Given the description of an element on the screen output the (x, y) to click on. 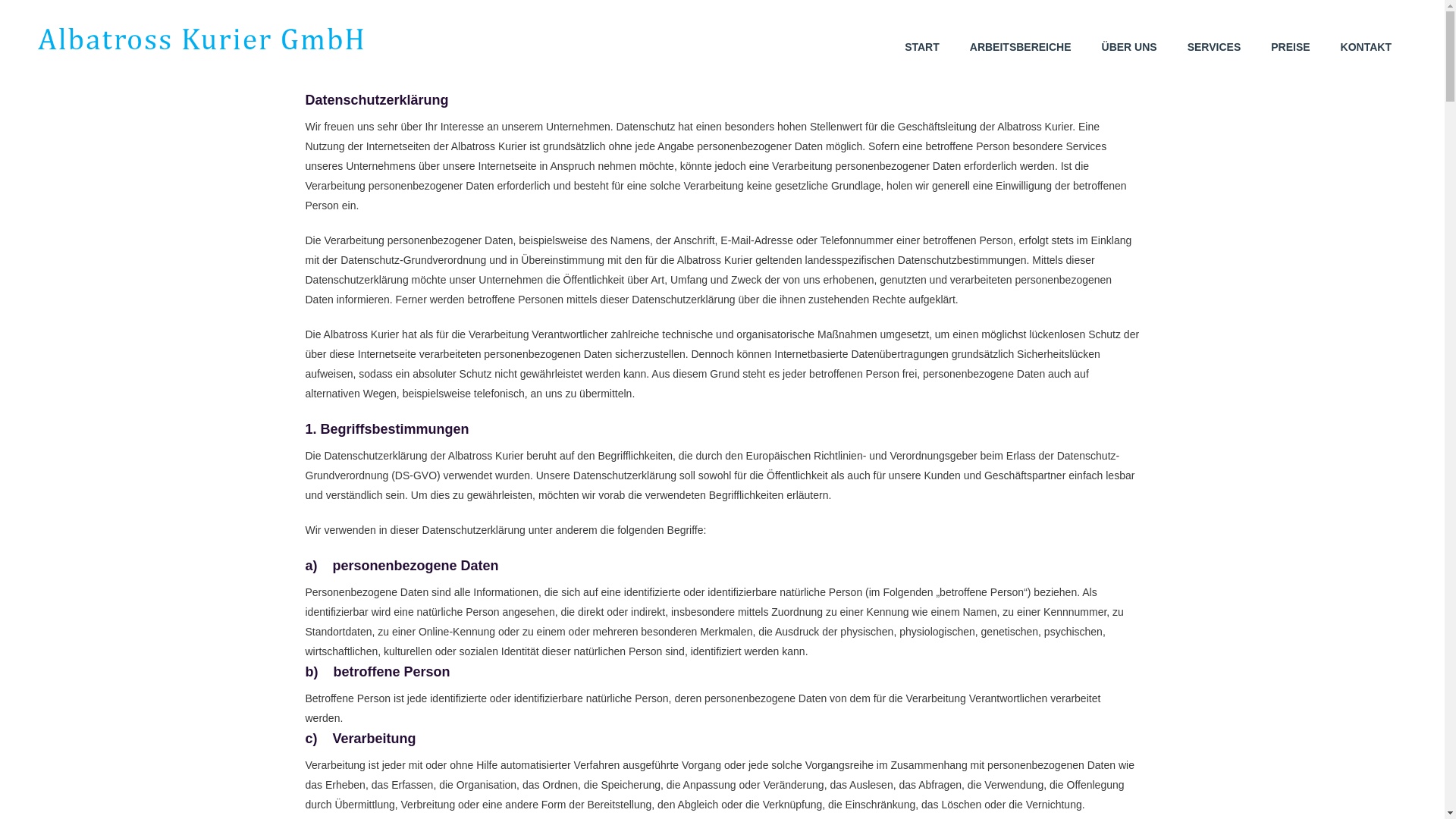
PREISE Element type: text (1297, 59)
SERVICES Element type: text (1221, 59)
ARBEITSBEREICHE Element type: text (1027, 59)
KONTAKT Element type: text (1373, 59)
START Element type: text (929, 59)
